Given the description of an element on the screen output the (x, y) to click on. 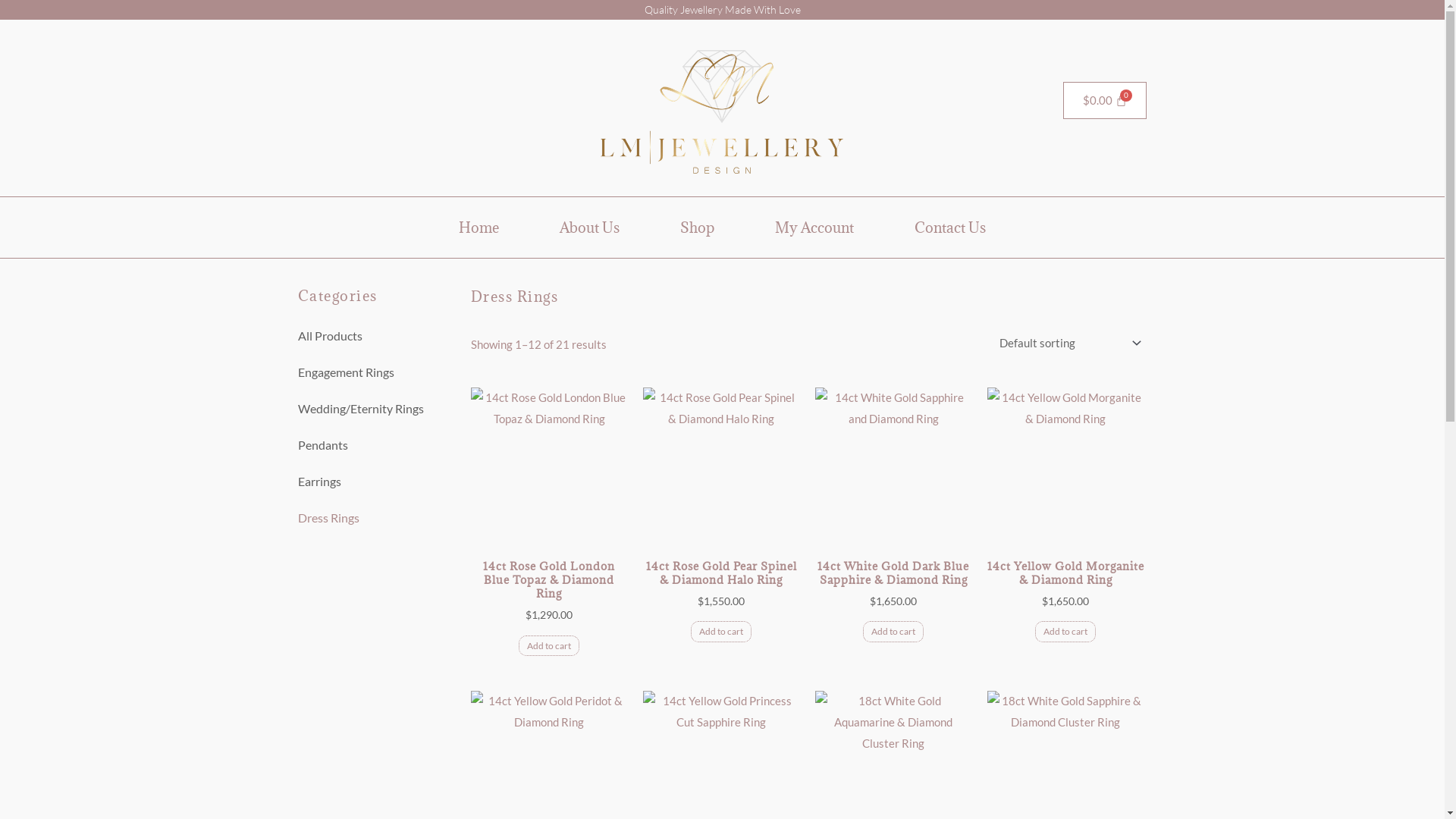
Add to cart Element type: text (1065, 631)
All Products Element type: text (376, 335)
Add to cart Element type: text (548, 645)
Shop Element type: text (696, 227)
14ct White Gold Dark Blue Sapphire & Diamond Ring Element type: text (893, 572)
Home Element type: text (478, 227)
Earrings Element type: text (376, 481)
Add to cart Element type: text (720, 631)
Contact Us Element type: text (950, 227)
About Us Element type: text (589, 227)
Dress Rings Element type: text (376, 517)
14ct Rose Gold Pear Spinel & Diamond Halo Ring Element type: text (721, 572)
Add to cart Element type: text (892, 631)
14ct Yellow Gold Morganite & Diamond Ring Element type: text (1065, 572)
$0.00
0 Element type: text (1105, 100)
Engagement Rings Element type: text (376, 372)
Wedding/Eternity Rings Element type: text (376, 408)
My Account Element type: text (814, 227)
Pendants Element type: text (376, 444)
14ct Rose Gold London Blue Topaz & Diamond Ring Element type: text (548, 580)
